Given the description of an element on the screen output the (x, y) to click on. 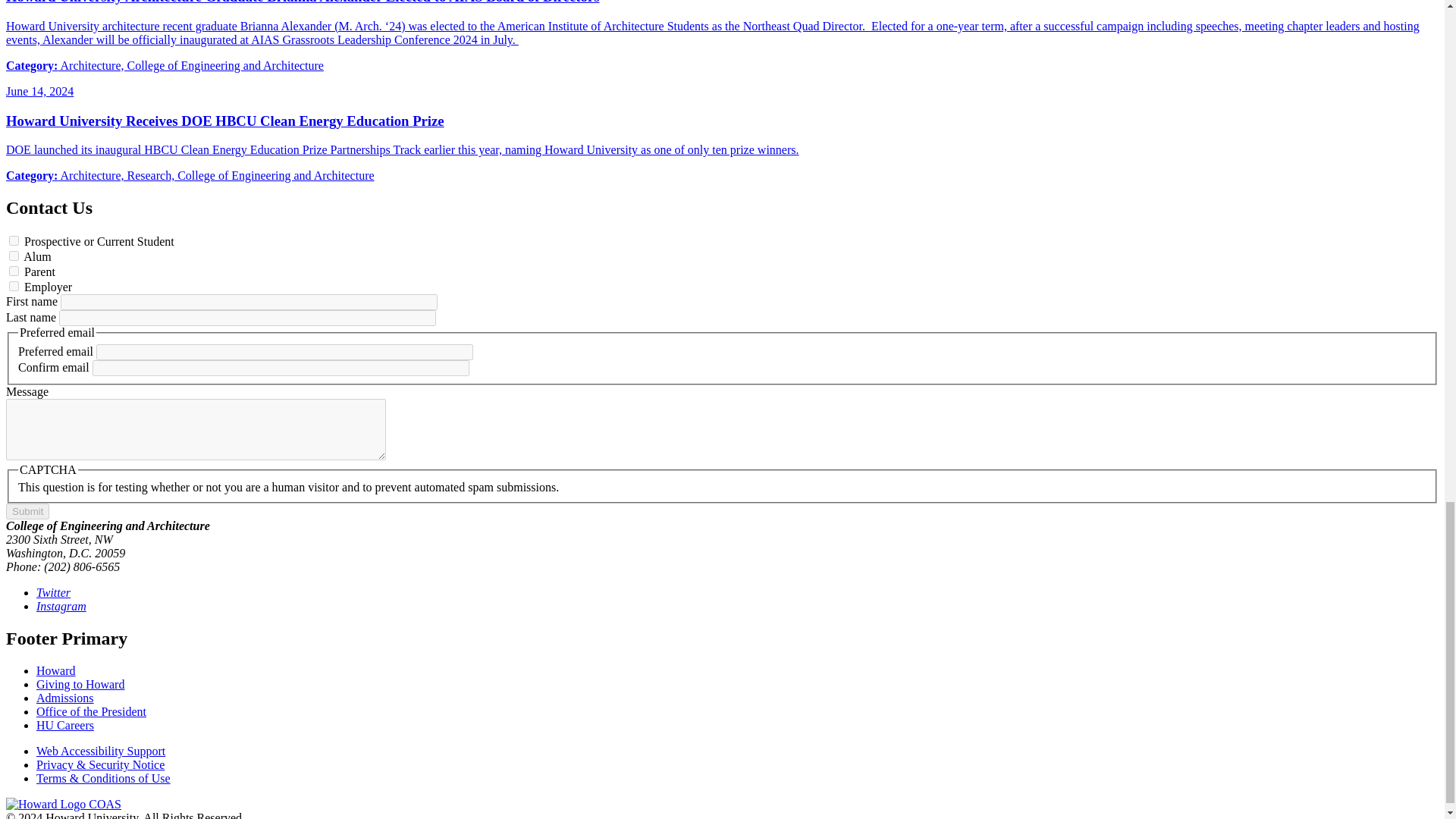
1 (13, 240)
1 (13, 286)
1 (13, 255)
1 (13, 271)
Web Accessibility Support (100, 750)
Submit (27, 511)
